Given the description of an element on the screen output the (x, y) to click on. 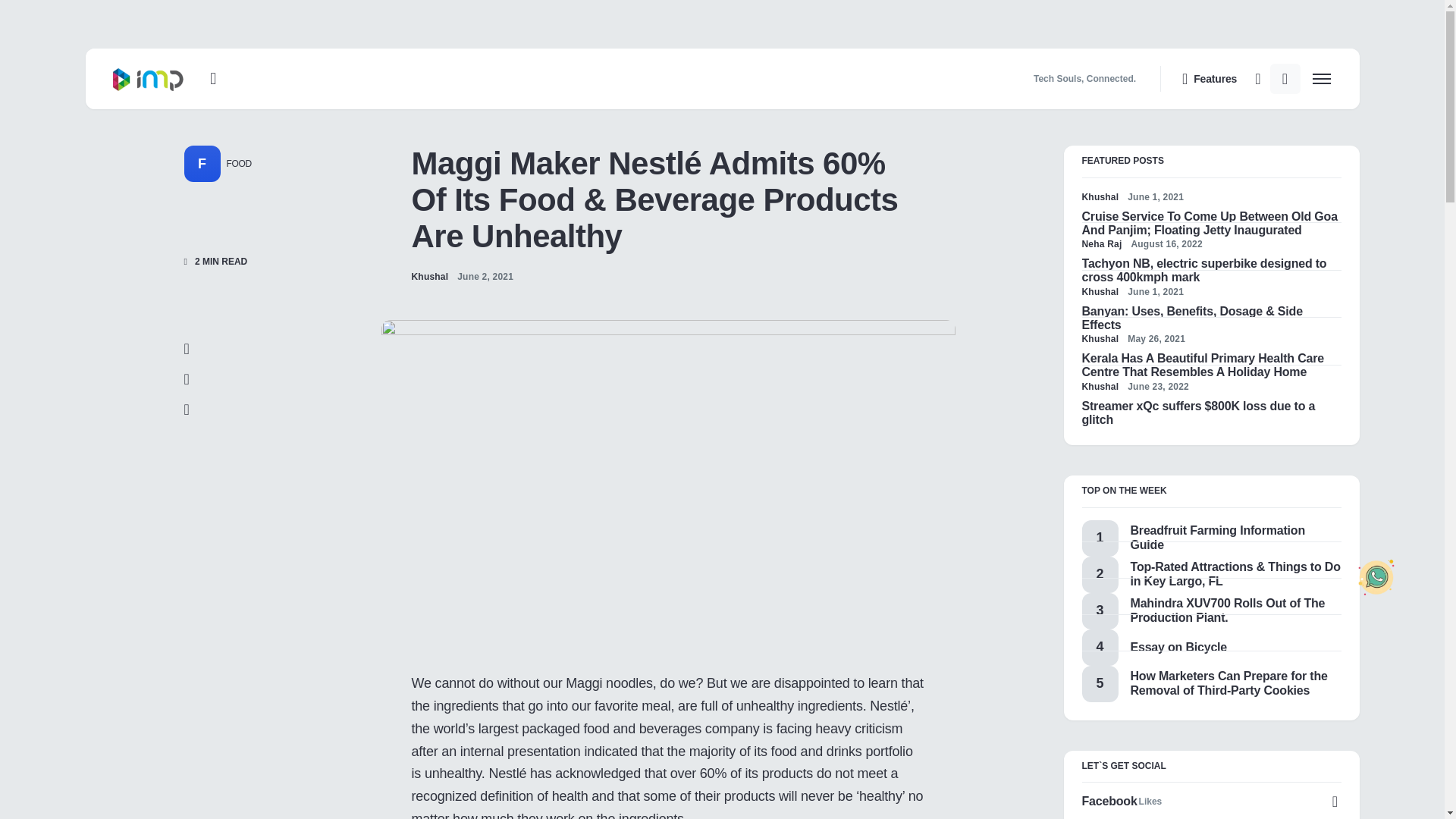
View all posts by Neha Raj (1101, 243)
View all posts by Khushal (1099, 386)
View all posts by Khushal (429, 276)
View all posts by Khushal (1099, 291)
View all posts by Khushal (1099, 338)
View all posts by Khushal (1099, 196)
